Given the description of an element on the screen output the (x, y) to click on. 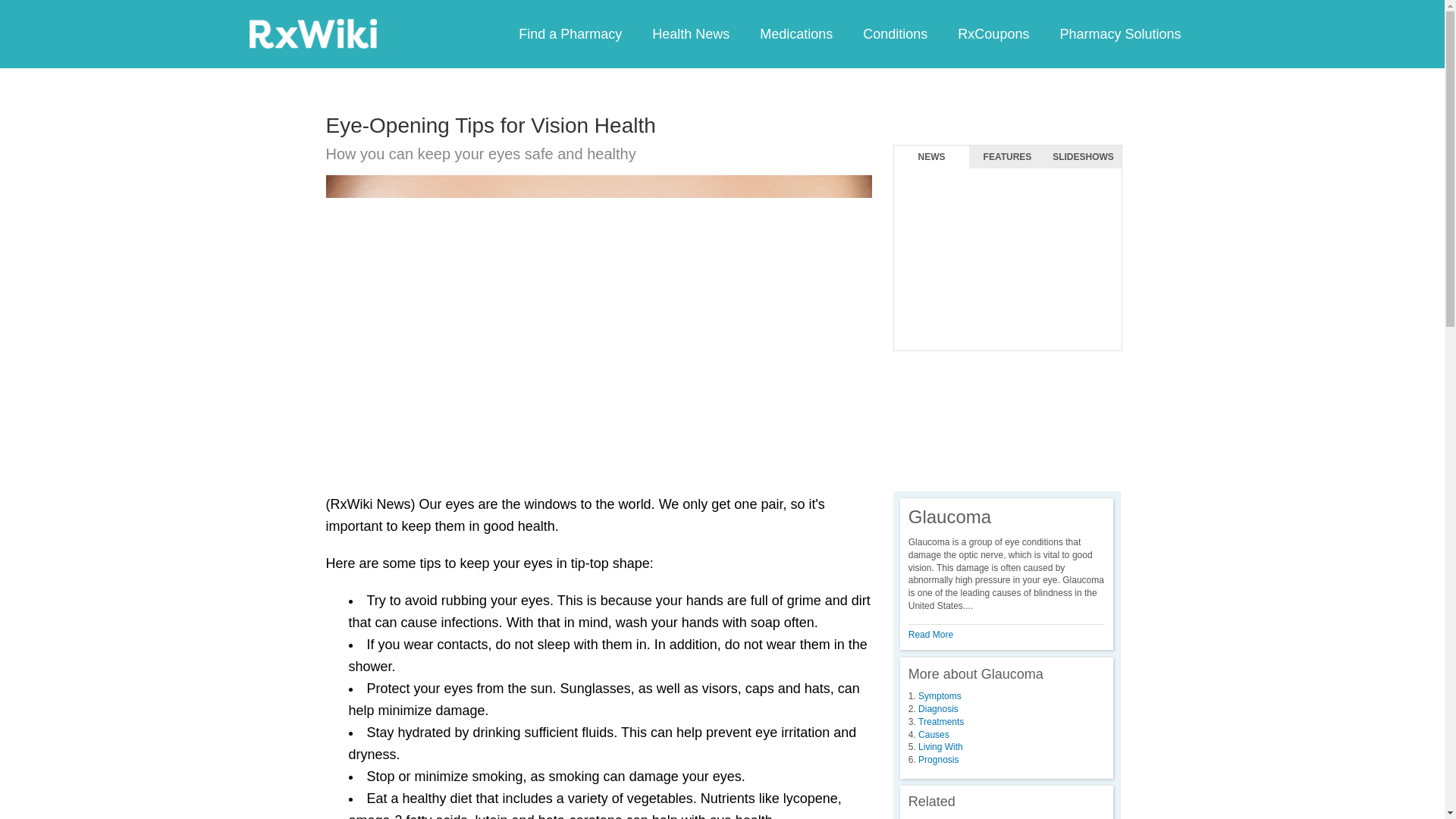
SLIDESHOWS (1083, 156)
RxCoupons (992, 33)
FEATURES (1007, 156)
Find a Pharmacy (570, 33)
RxWiki (312, 32)
Pharmacy Solutions (1119, 33)
Conditions (894, 33)
Health News (690, 33)
NEWS (931, 156)
Medications (795, 33)
